Given the description of an element on the screen output the (x, y) to click on. 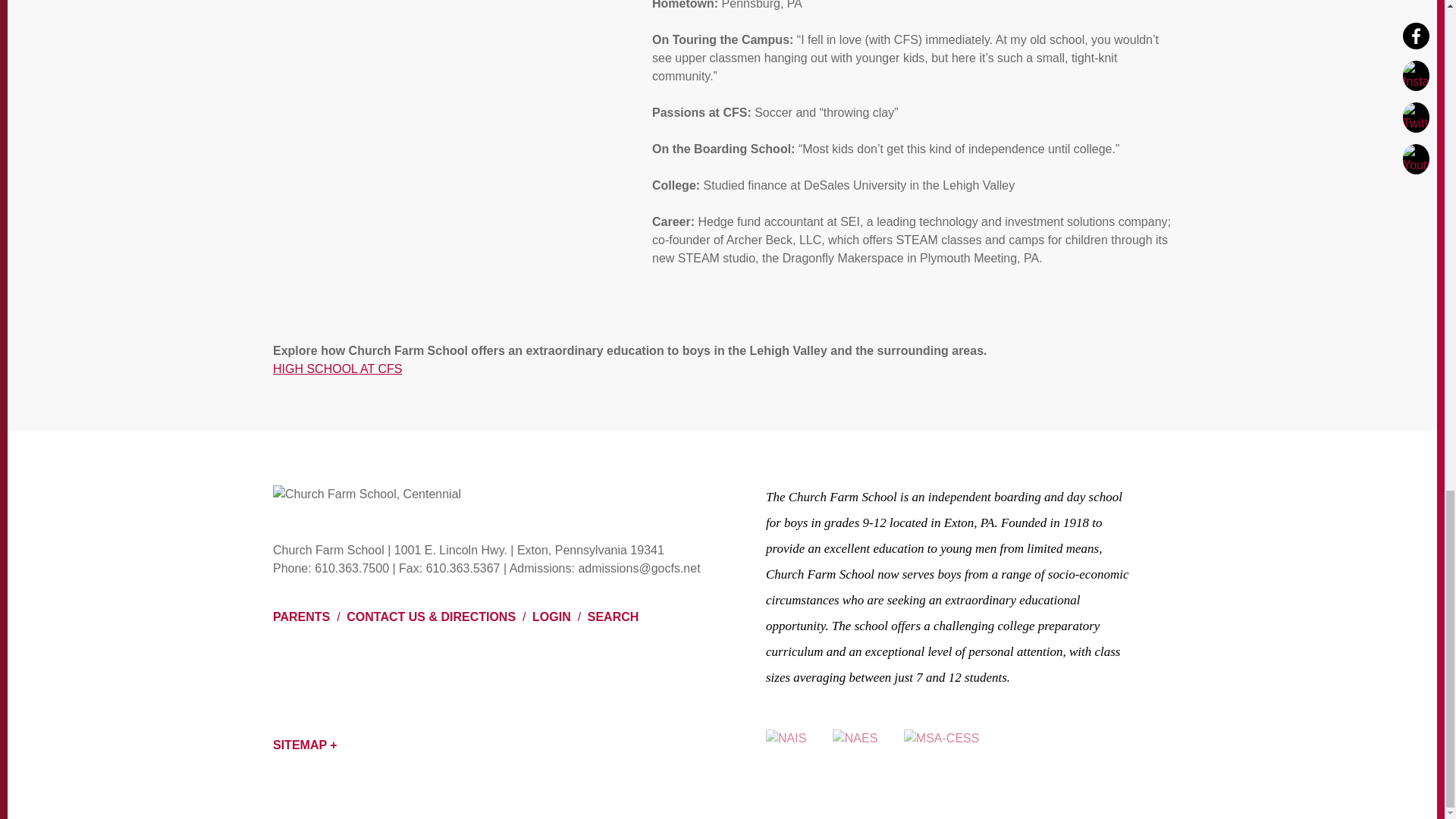
open or close this sitemap (305, 745)
